Given the description of an element on the screen output the (x, y) to click on. 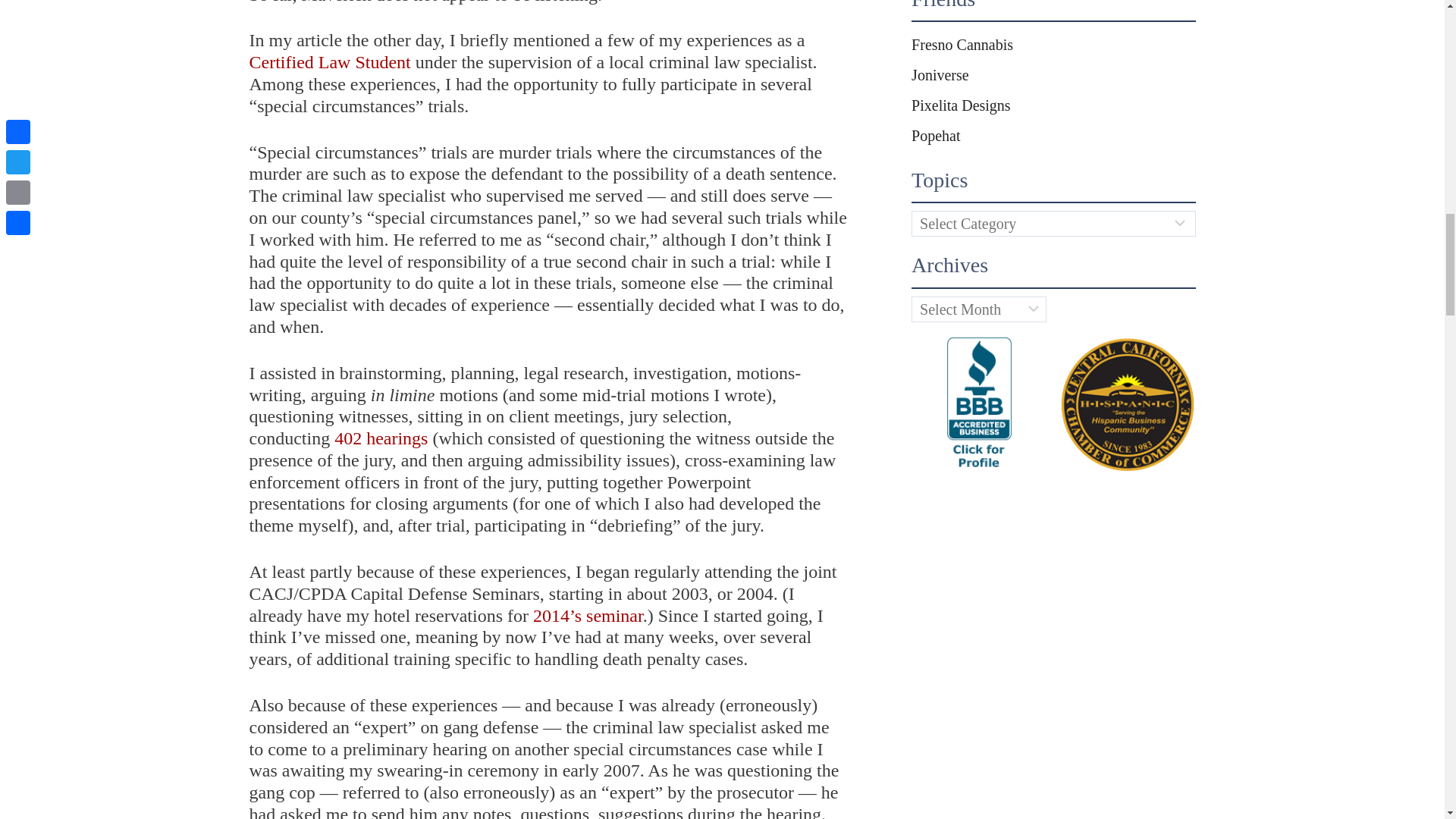
2014 Capital Case Defense Seminar brochure (587, 615)
402 hearings (381, 437)
California Evidence Code Section 402 (381, 437)
Certified Law Student (329, 62)
